Given the description of an element on the screen output the (x, y) to click on. 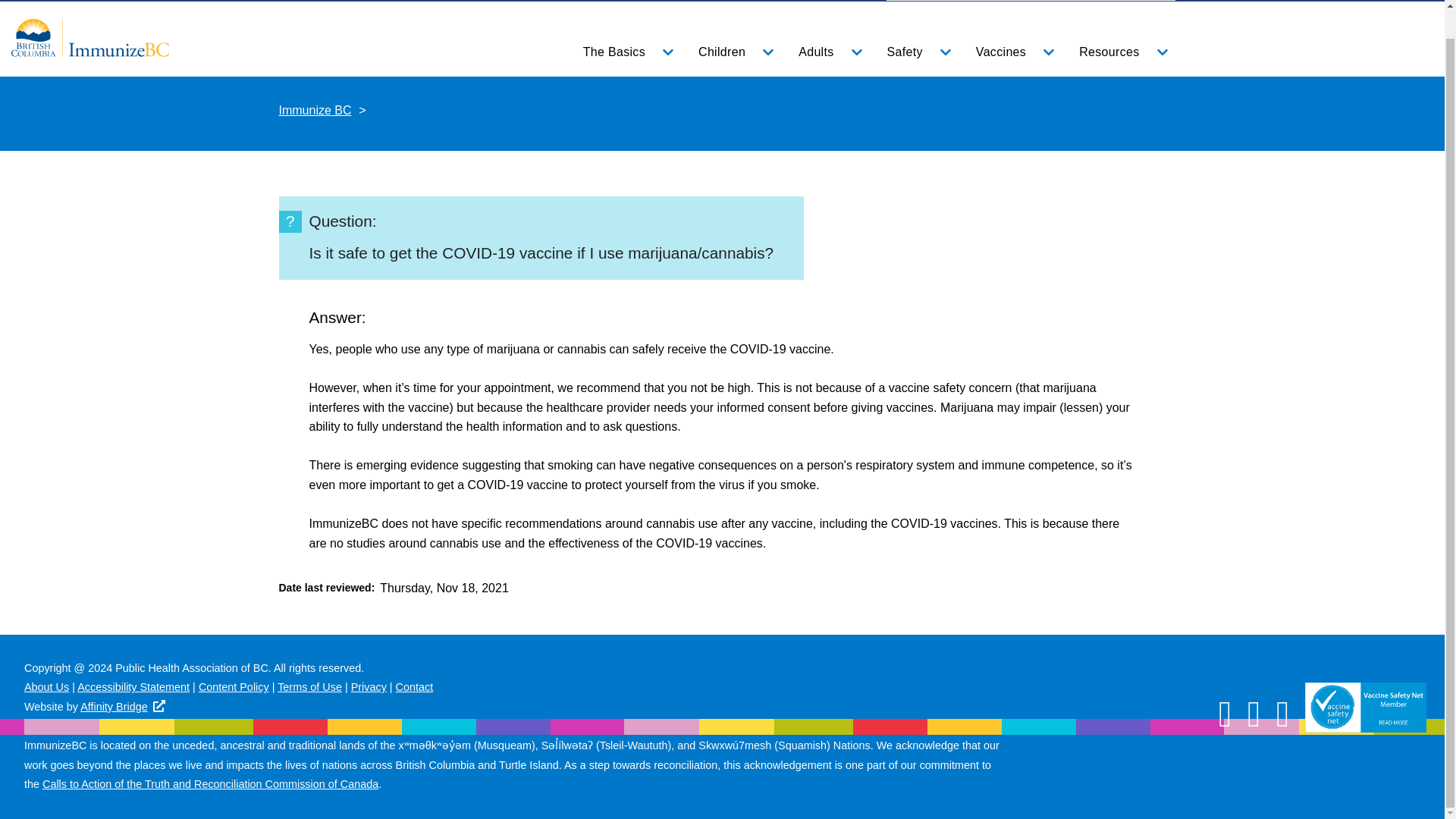
Search (1139, 0)
Search (1139, 0)
Adults (826, 51)
The Basics (624, 51)
Immunize BC (89, 37)
Safety (916, 51)
Children (732, 51)
